Given the description of an element on the screen output the (x, y) to click on. 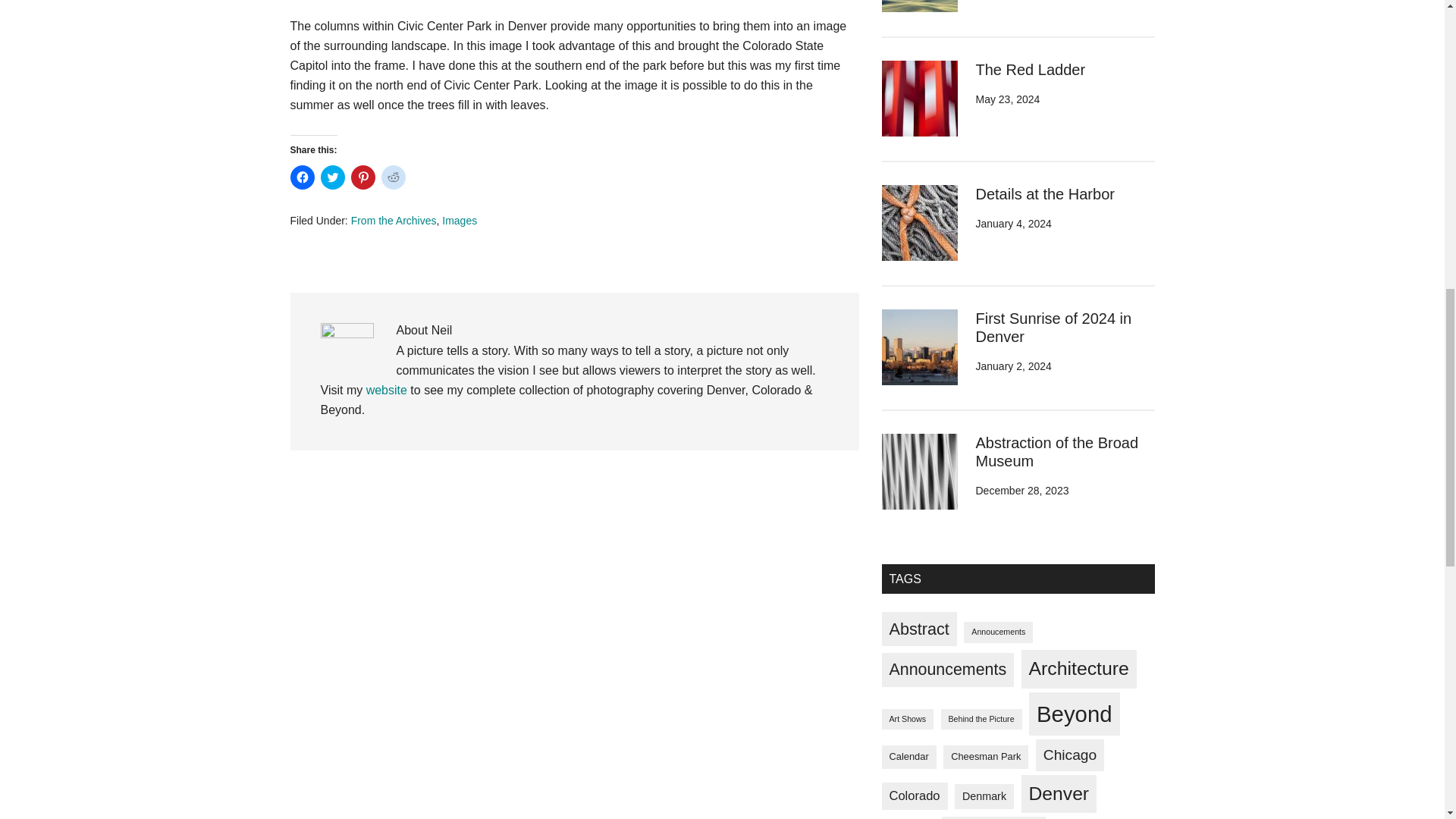
Click to share on Facebook (301, 177)
Click to share on Reddit (392, 177)
From the Archives (393, 220)
Click to share on Pinterest (362, 177)
Images (459, 220)
Click to share on Twitter (331, 177)
